Given the description of an element on the screen output the (x, y) to click on. 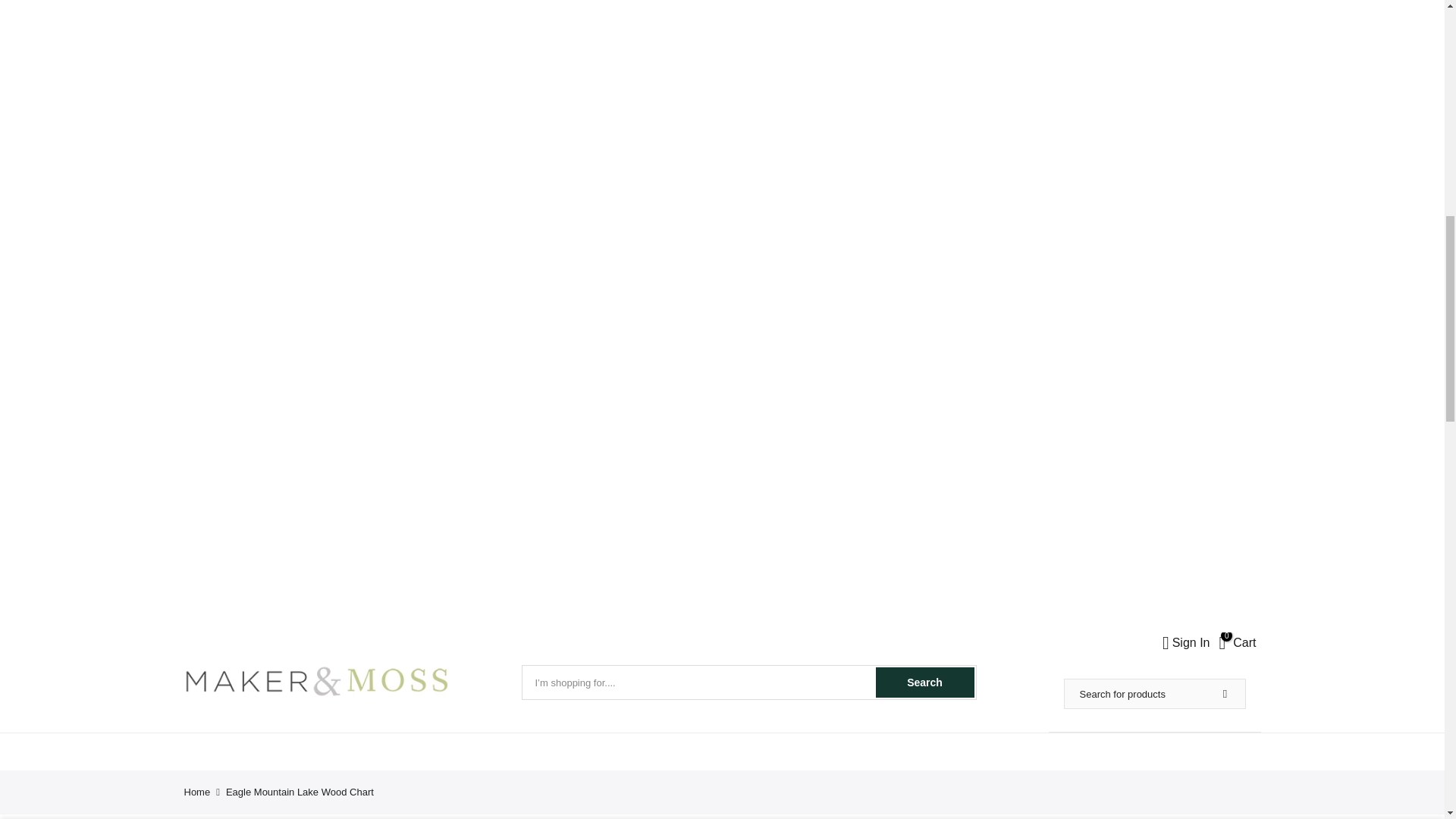
1 (1096, 35)
Search (924, 682)
Home (196, 792)
Sign In (1238, 642)
